Given the description of an element on the screen output the (x, y) to click on. 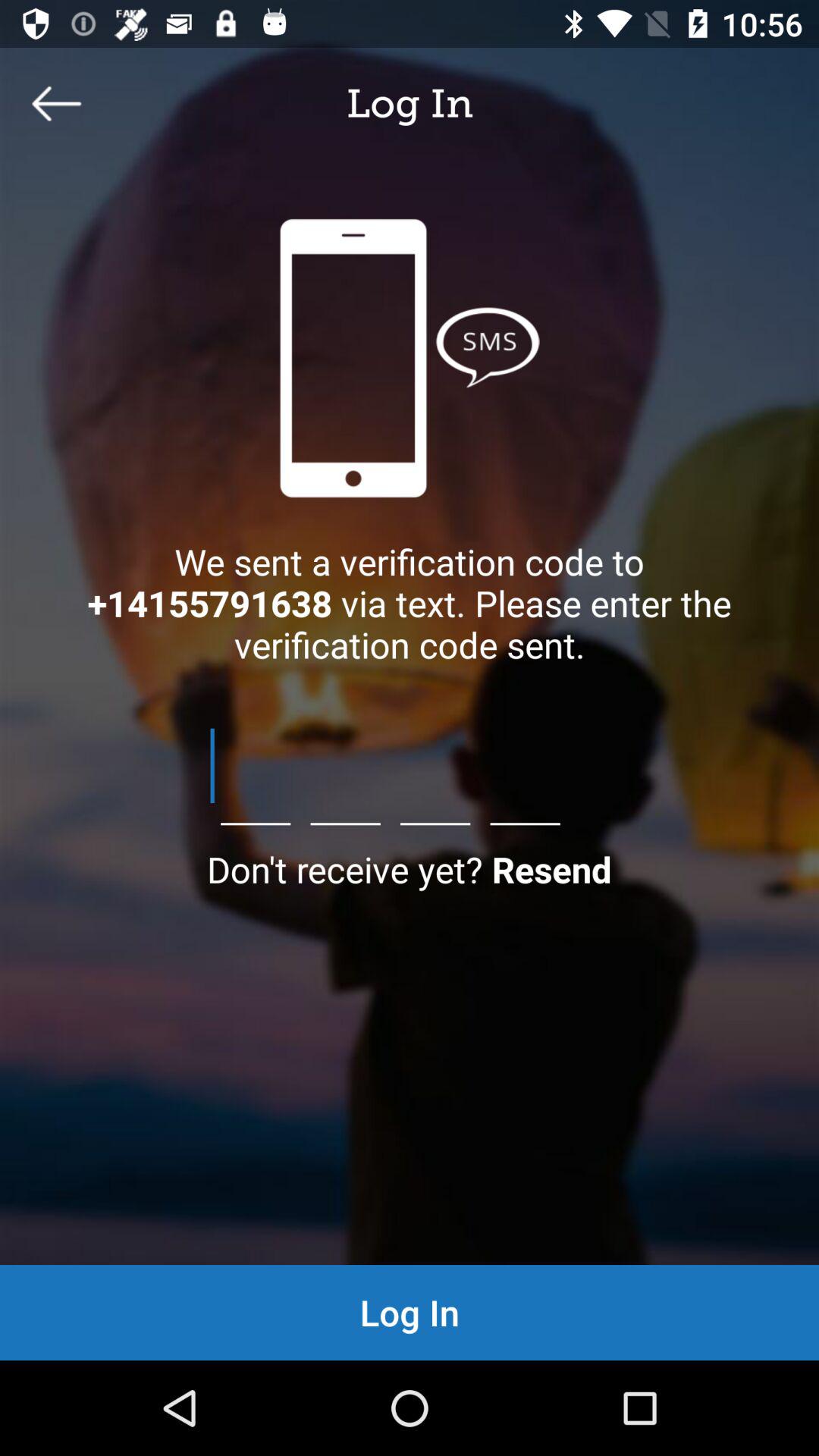
go back (56, 103)
